Given the description of an element on the screen output the (x, y) to click on. 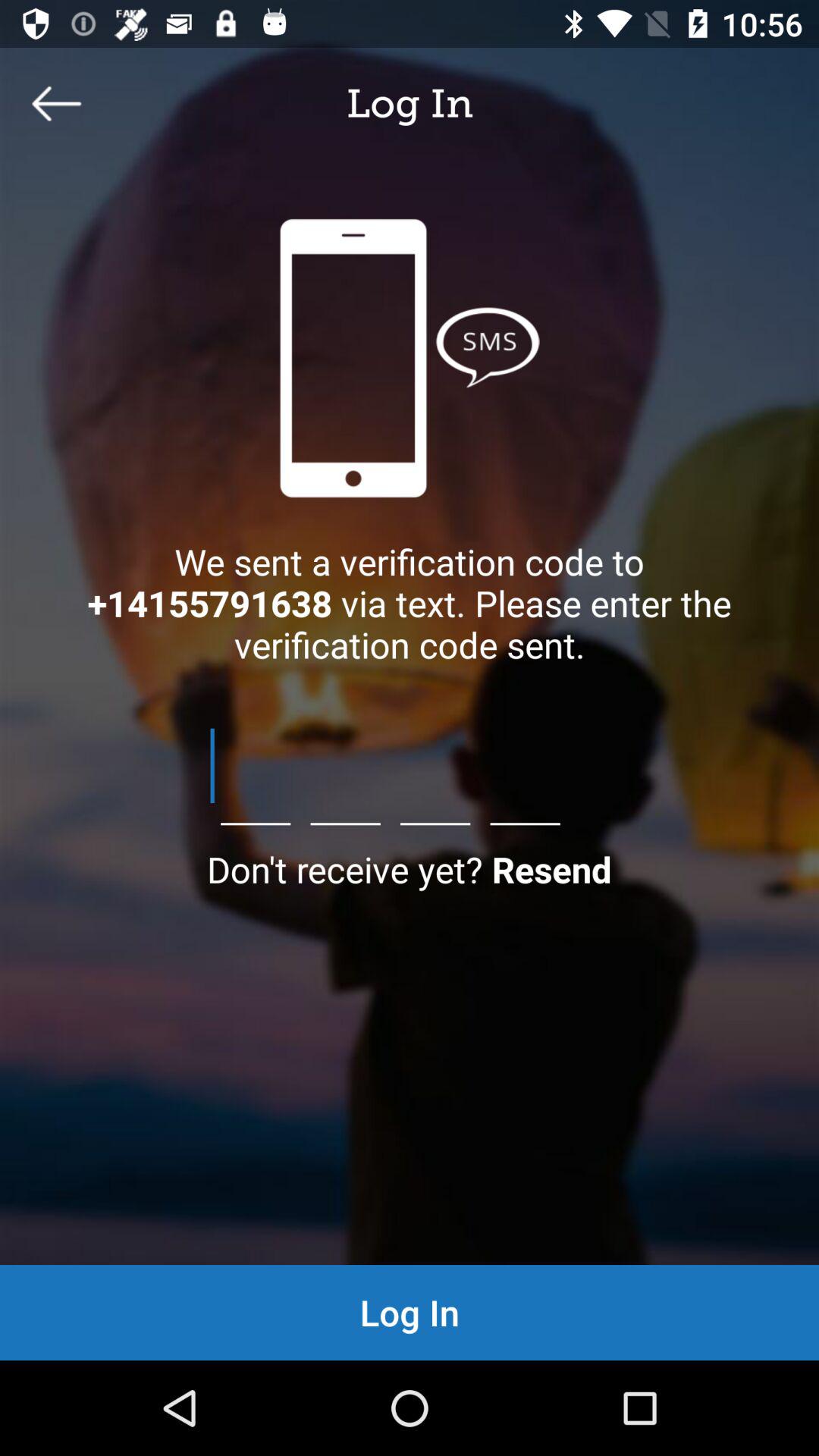
go back (56, 103)
